Given the description of an element on the screen output the (x, y) to click on. 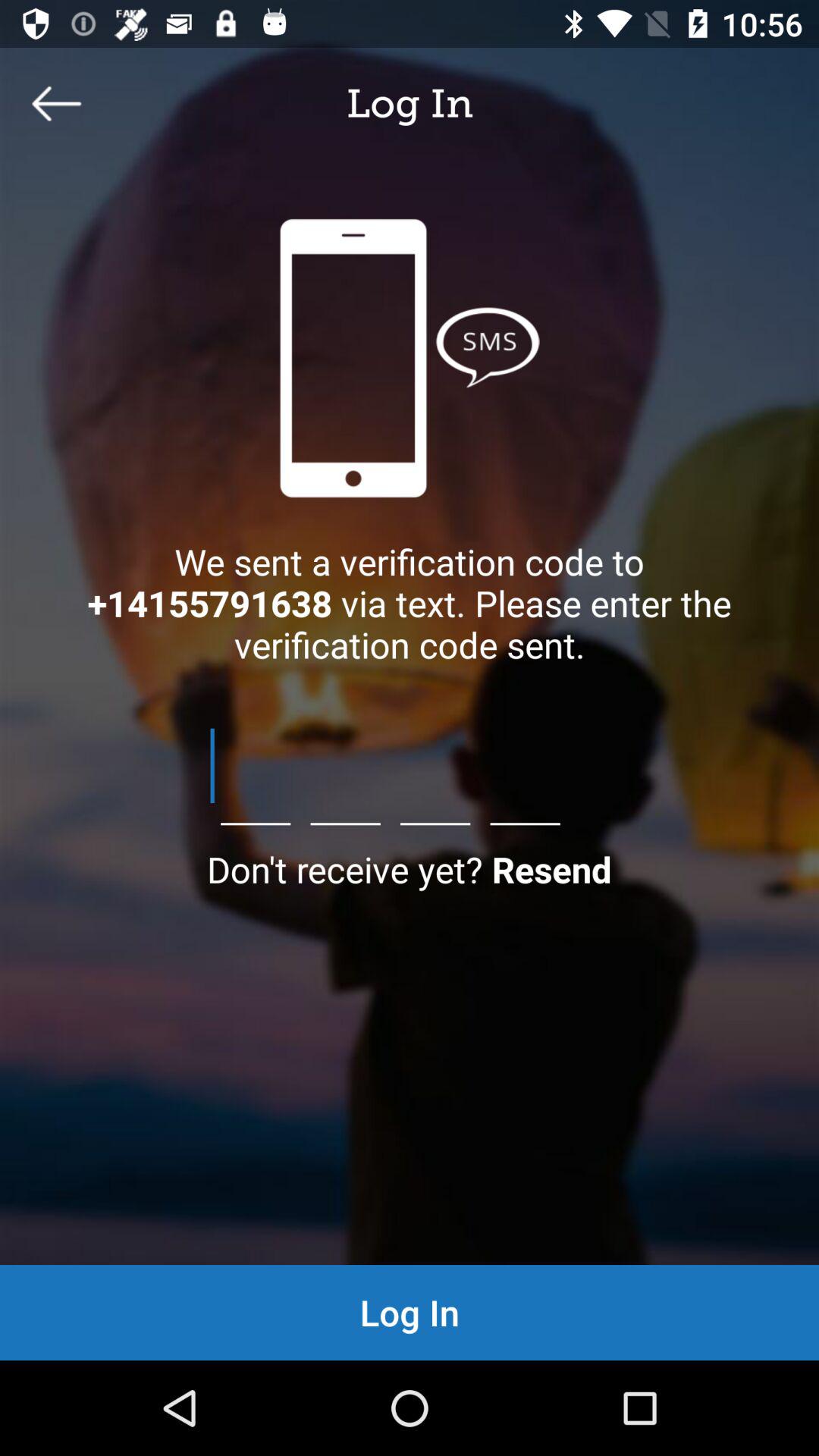
go back (56, 103)
